Given the description of an element on the screen output the (x, y) to click on. 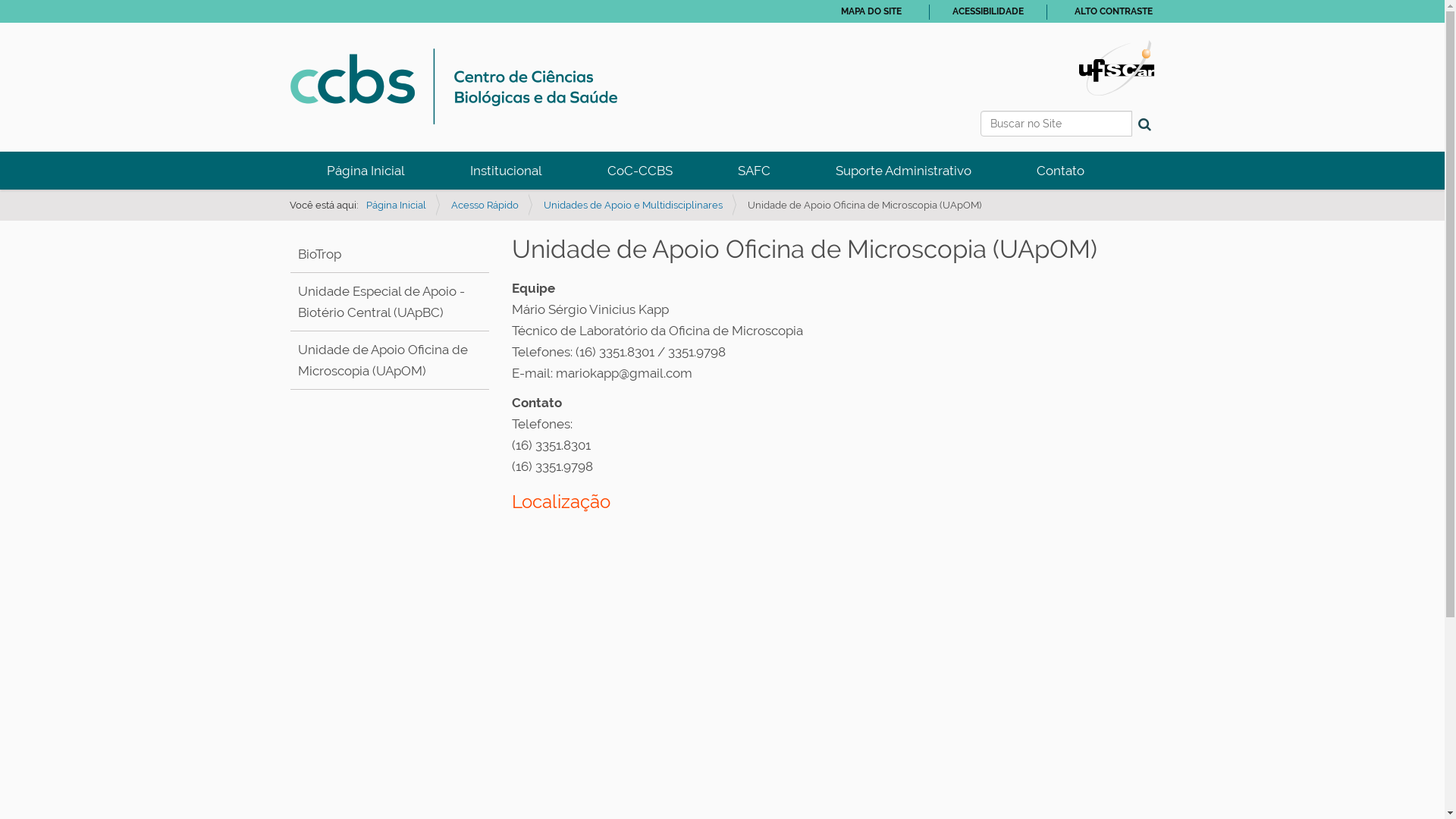
Buscar no Site Element type: hover (1055, 123)
MAPA DO SITE Element type: text (870, 11)
Unidades de Apoio e Multidisciplinares Element type: text (631, 204)
ACESSIBILIDADE Element type: text (987, 11)
Unidade de Apoio Oficina de Microscopia (UApOM) Element type: text (382, 360)
ALTO CONTRASTE Element type: text (1112, 11)
Portal UFSCar Element type: hover (1116, 66)
CoC-CCBS Element type: text (639, 170)
Institucional Element type: text (505, 170)
BioTrop Element type: text (318, 253)
Contato Element type: text (1060, 170)
SAFC Element type: text (754, 170)
Suporte Administrativo Element type: text (902, 170)
